Given the description of an element on the screen output the (x, y) to click on. 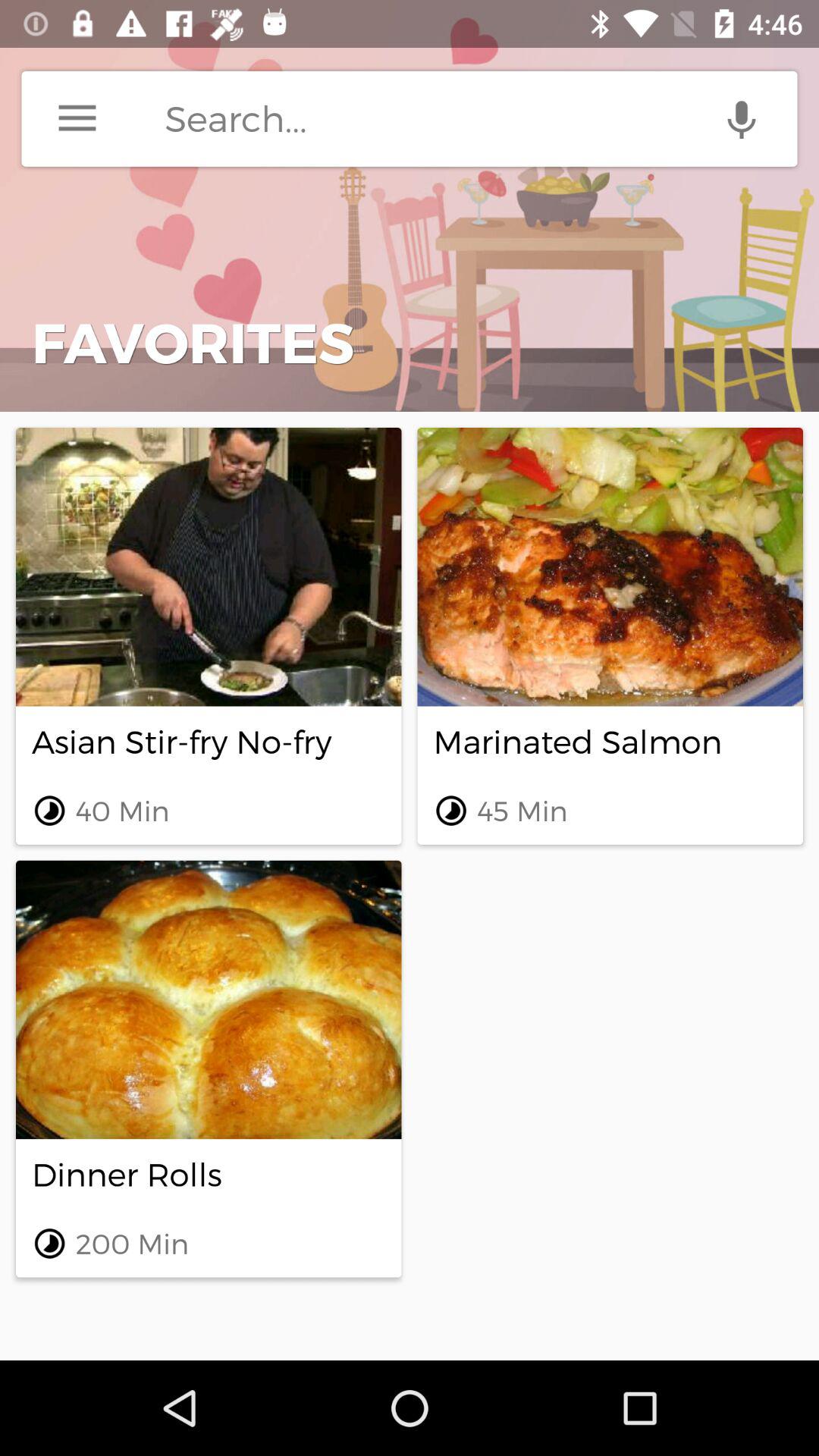
open menu (77, 118)
